Given the description of an element on the screen output the (x, y) to click on. 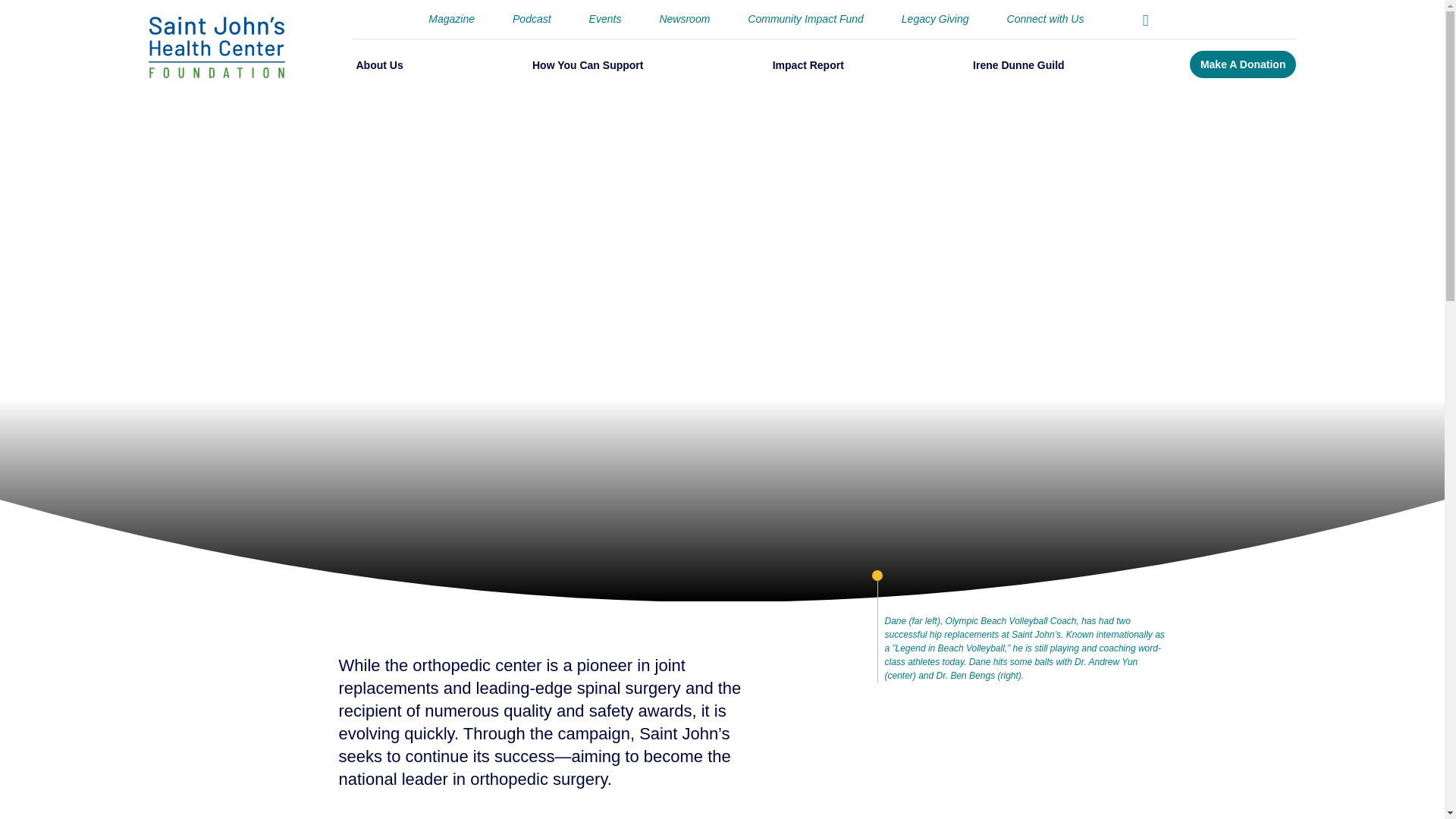
Impact Report (808, 65)
Community Impact Fund (805, 19)
Podcast (531, 19)
About Us (379, 65)
Events (605, 19)
Newsroom (684, 19)
Make A Donation (1242, 64)
Legacy Giving (935, 19)
How You Can Support (587, 65)
Connect with Us (1045, 19)
